Given the description of an element on the screen output the (x, y) to click on. 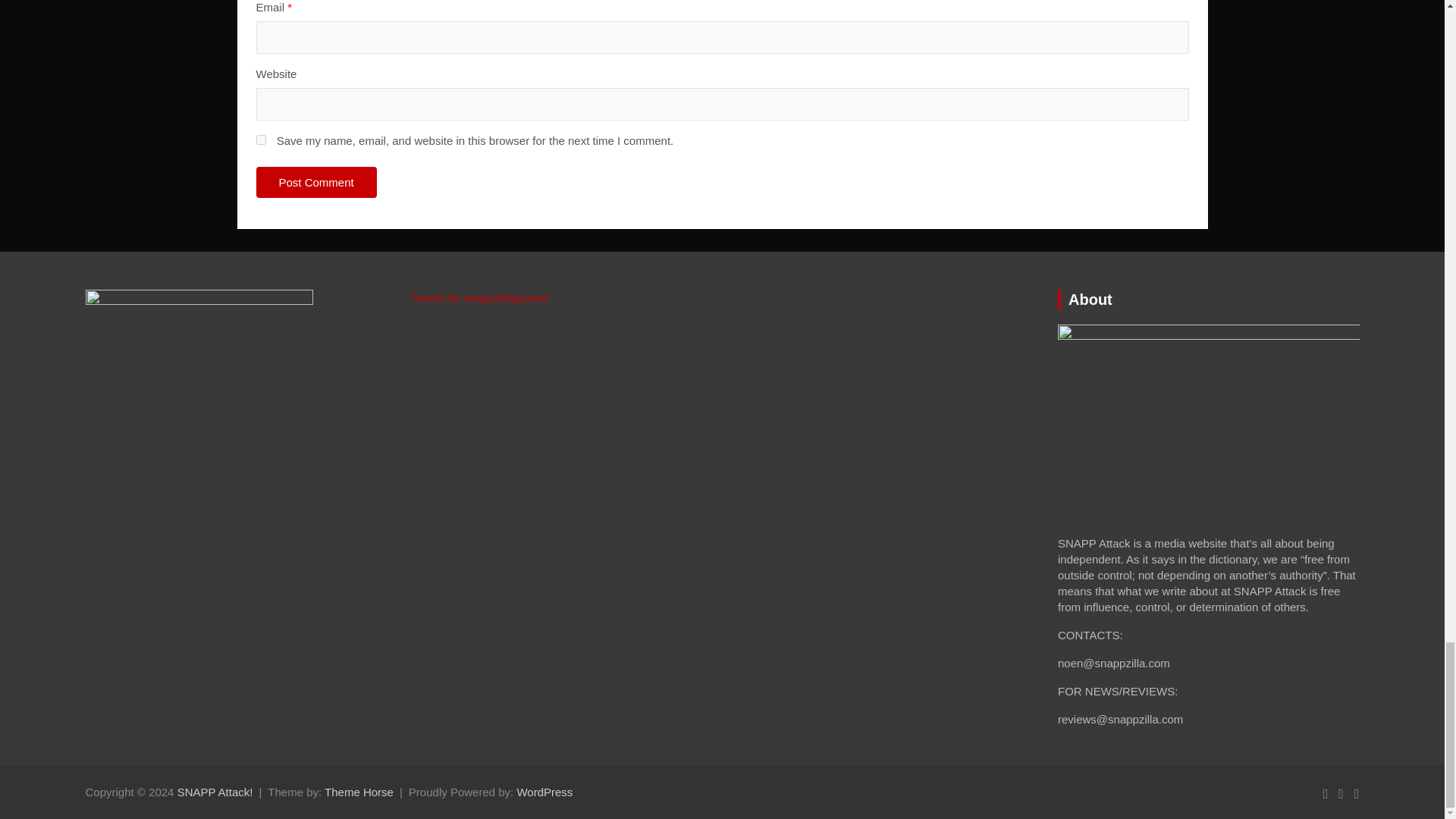
Tweets by snappzillagames (478, 297)
WordPress (544, 791)
SNAPP Attack! (215, 791)
SNAPP Attack! (215, 791)
Theme Horse (358, 791)
Post Comment (316, 182)
Post Comment (316, 182)
yes (261, 139)
WordPress (544, 791)
Theme Horse (358, 791)
